Given the description of an element on the screen output the (x, y) to click on. 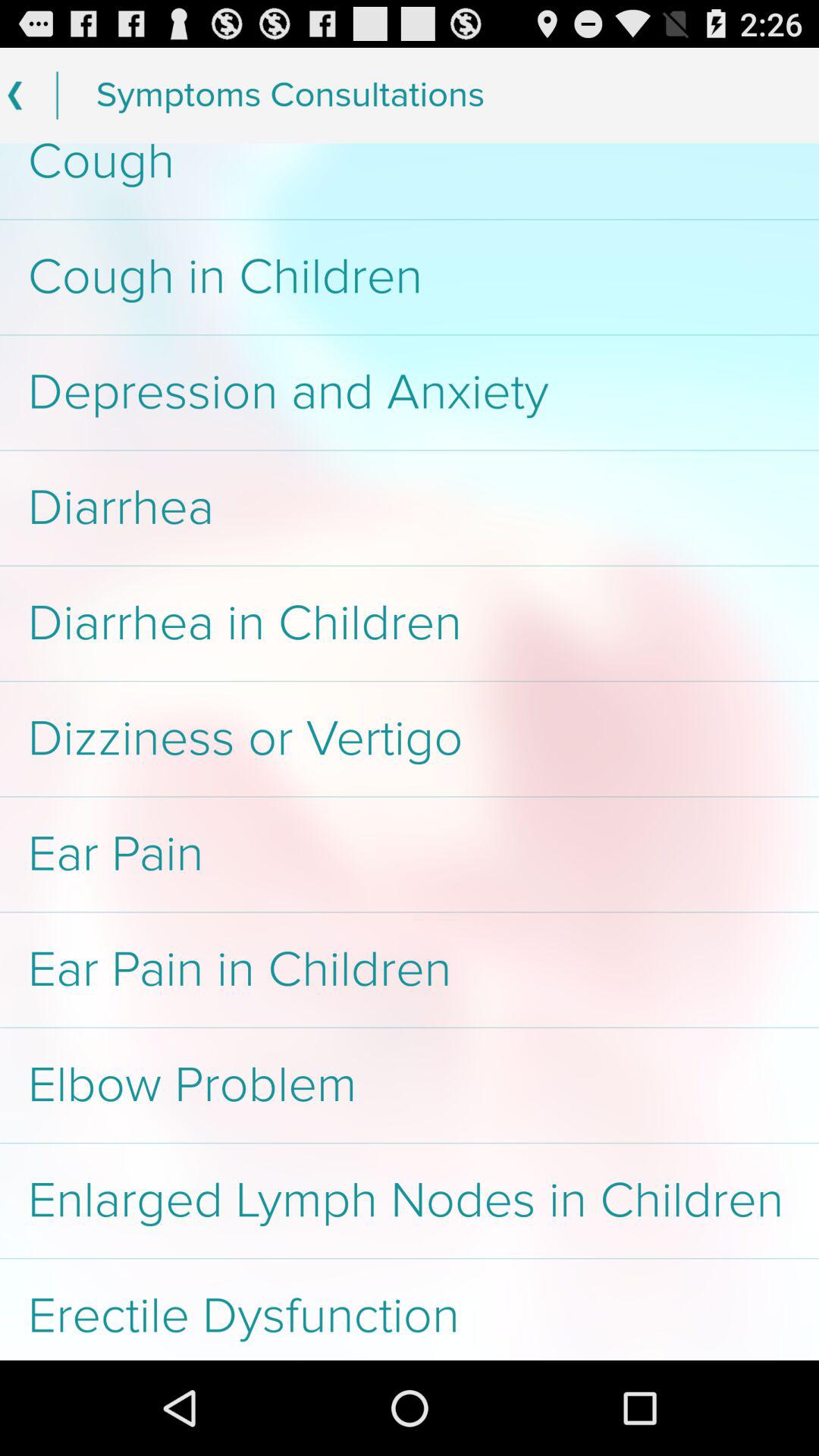
turn on depression and anxiety (409, 392)
